Given the description of an element on the screen output the (x, y) to click on. 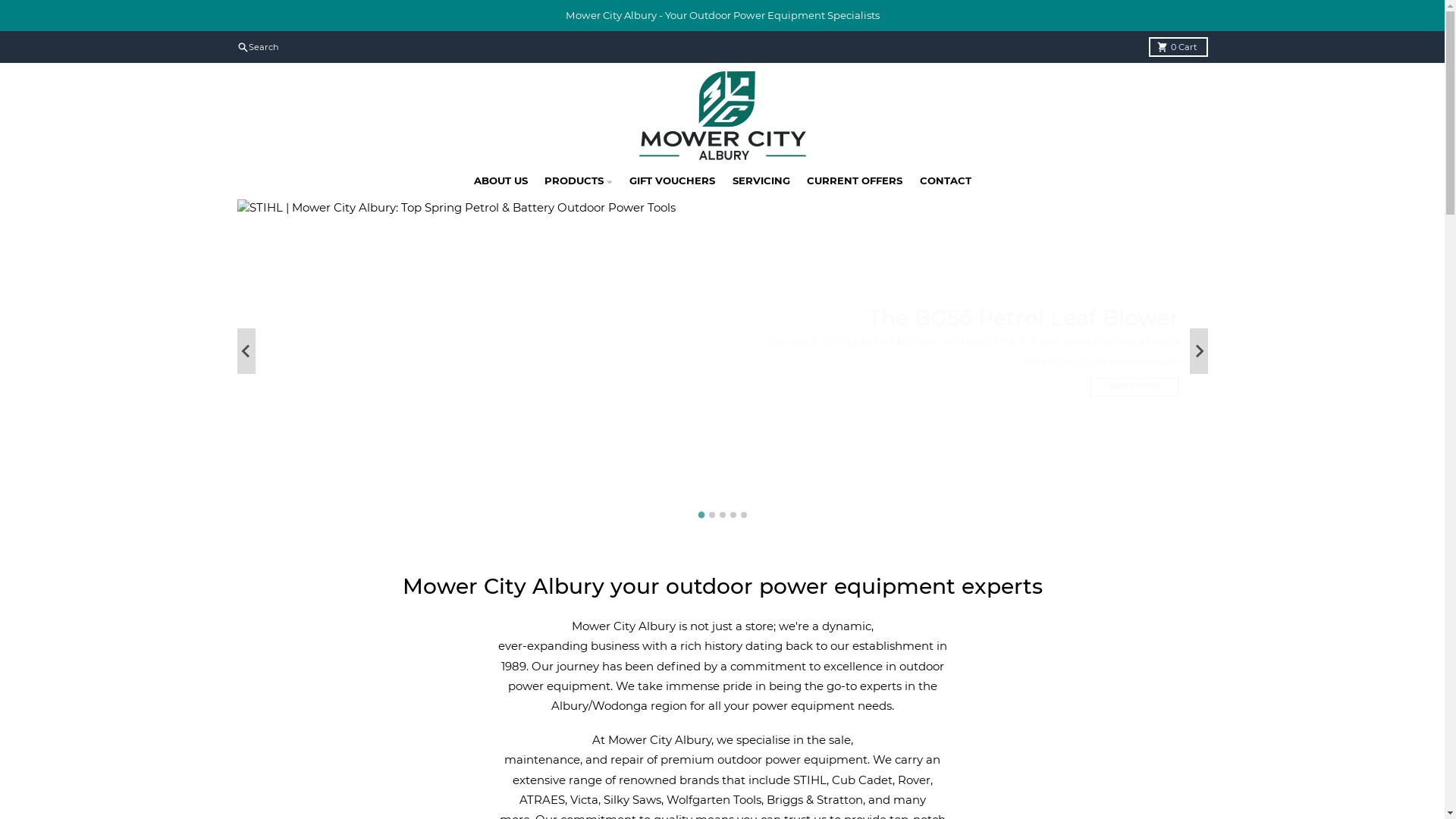
ABOUT US Element type: text (500, 181)
Search Element type: text (257, 47)
0
Cart Element type: text (1177, 47)
CONTACT Element type: text (944, 181)
CURRENT OFFERS Element type: text (854, 181)
SERVICING Element type: text (760, 181)
GIFT VOUCHERS Element type: text (672, 181)
SHOP NOW Element type: text (309, 478)
